Given the description of an element on the screen output the (x, y) to click on. 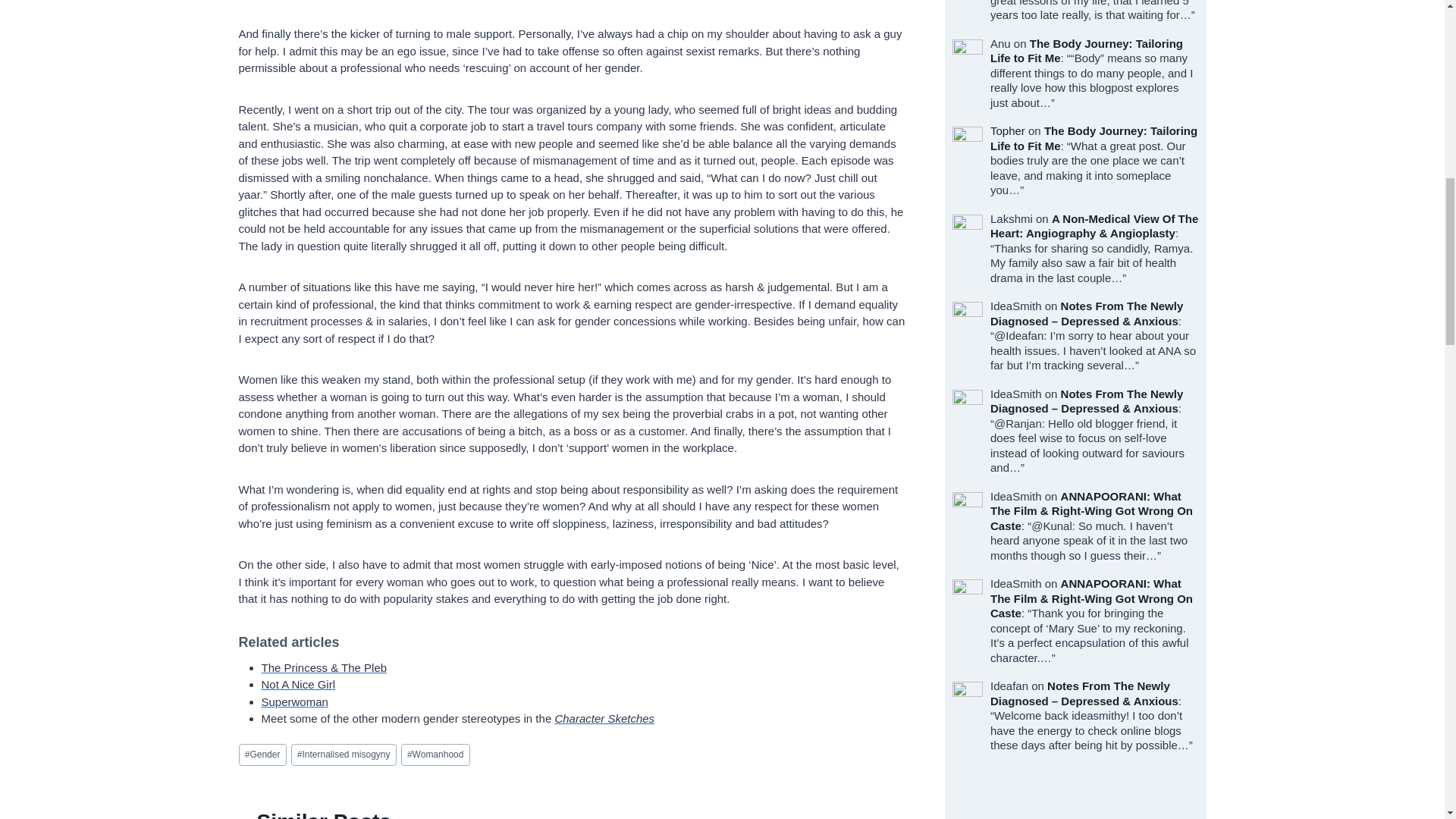
Internalised misogyny (343, 753)
Womanhood (435, 753)
Character Sketches (603, 717)
Superwoman (293, 700)
Gender (261, 753)
Not A Nice Girl (297, 684)
